Given the description of an element on the screen output the (x, y) to click on. 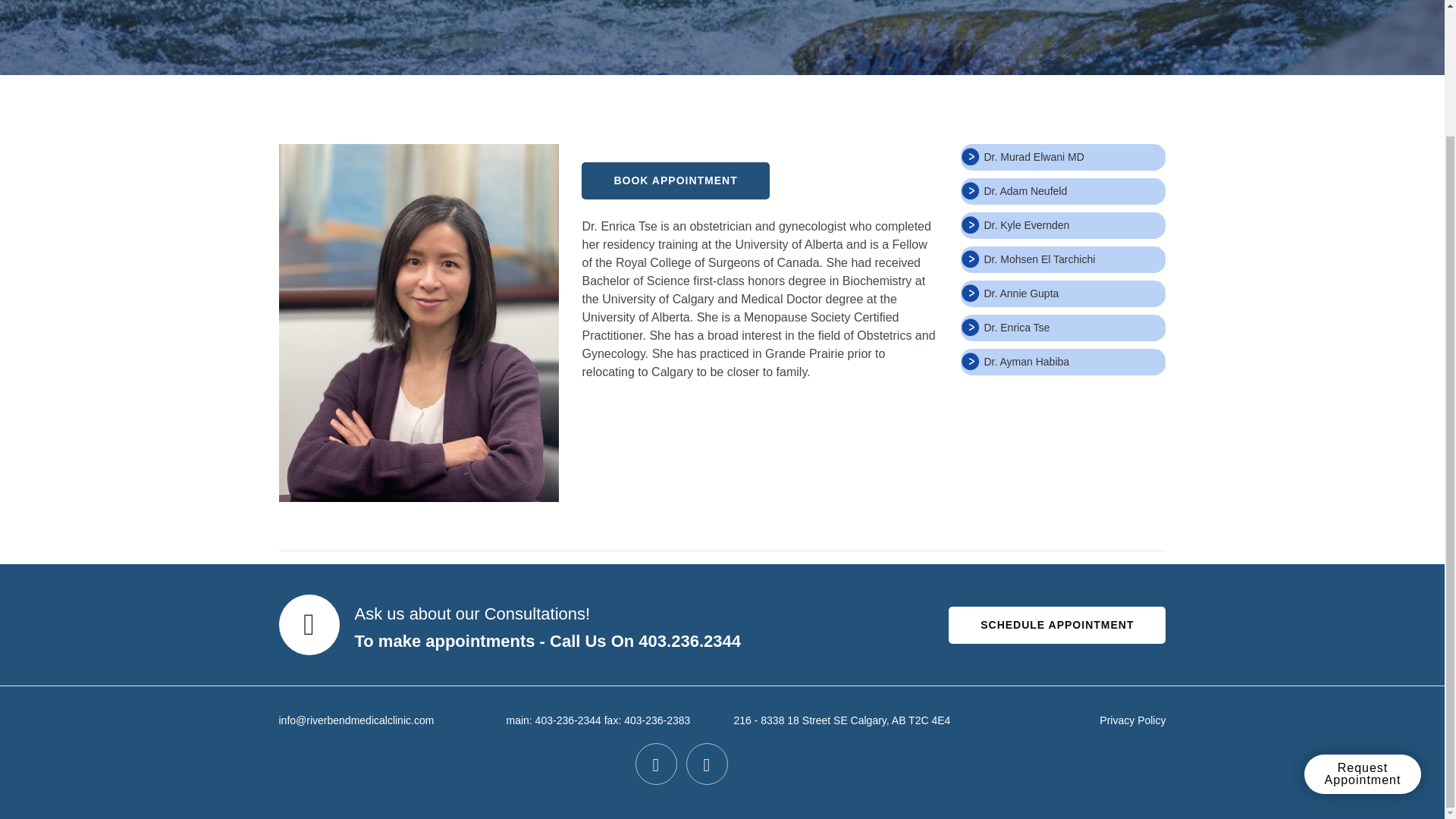
BOOK APPOINTMENT (674, 180)
Dr. Kyle Evernden (1026, 224)
Dr. Annie Gupta (1021, 293)
Dr. Murad Elwani MD (1033, 156)
SCHEDULE APPOINTMENT (1057, 624)
Dr. Adam Neufeld (1025, 191)
Privacy Policy (1132, 720)
Dr. Ayman Habiba (1026, 361)
Dr. Enrica Tse (1016, 327)
Dr. Mohsen El Tarchichi (1039, 259)
